Given the description of an element on the screen output the (x, y) to click on. 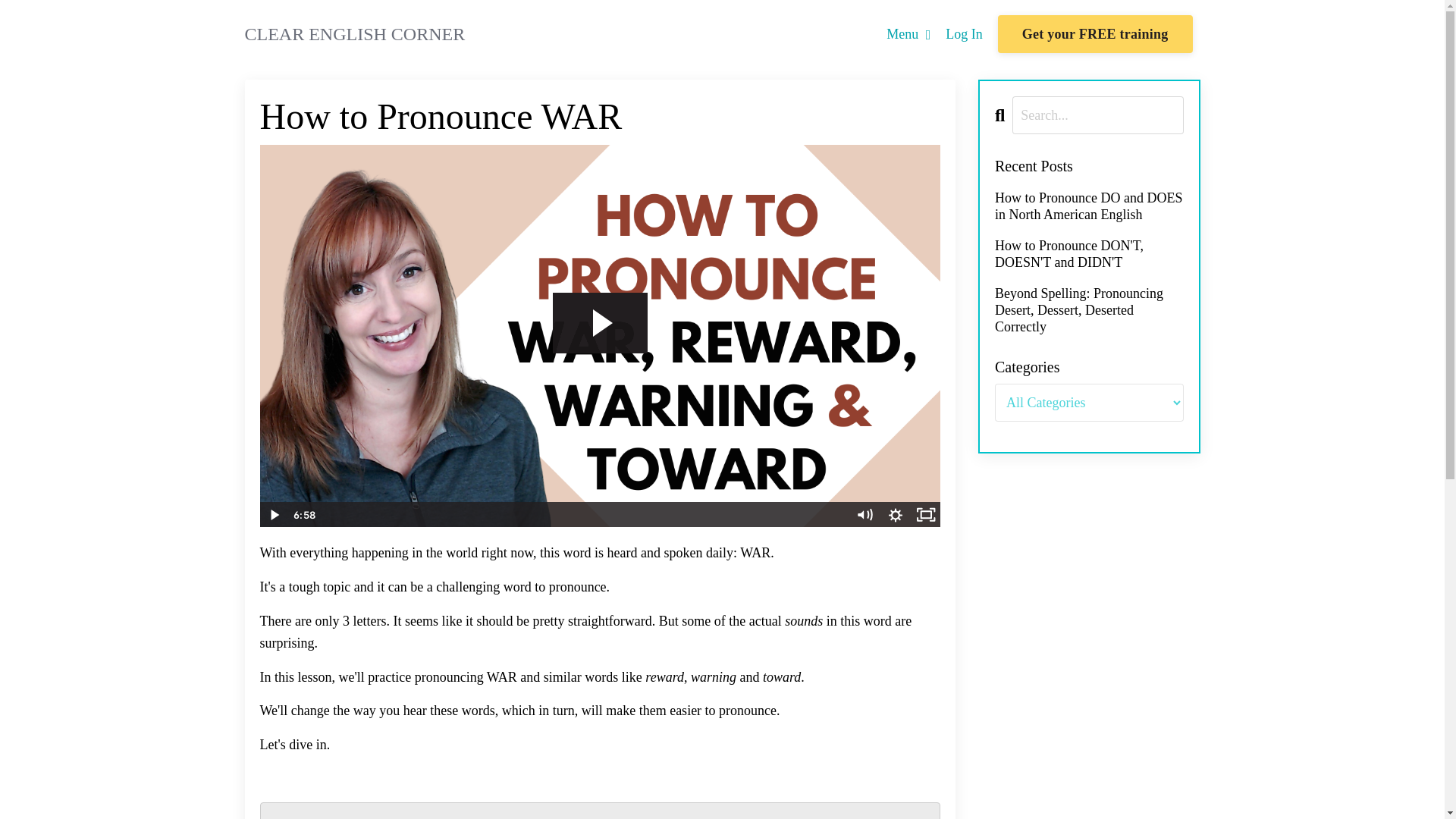
Show settings menu (895, 514)
Menu (908, 34)
How to Pronounce DO and DOES in North American English (1088, 206)
Log In (963, 33)
CLEAR ENGLISH CORNER (354, 34)
Get your FREE training (1094, 34)
How to Pronounce DON'T, DOESN'T and DIDN'T (1088, 254)
